Given the description of an element on the screen output the (x, y) to click on. 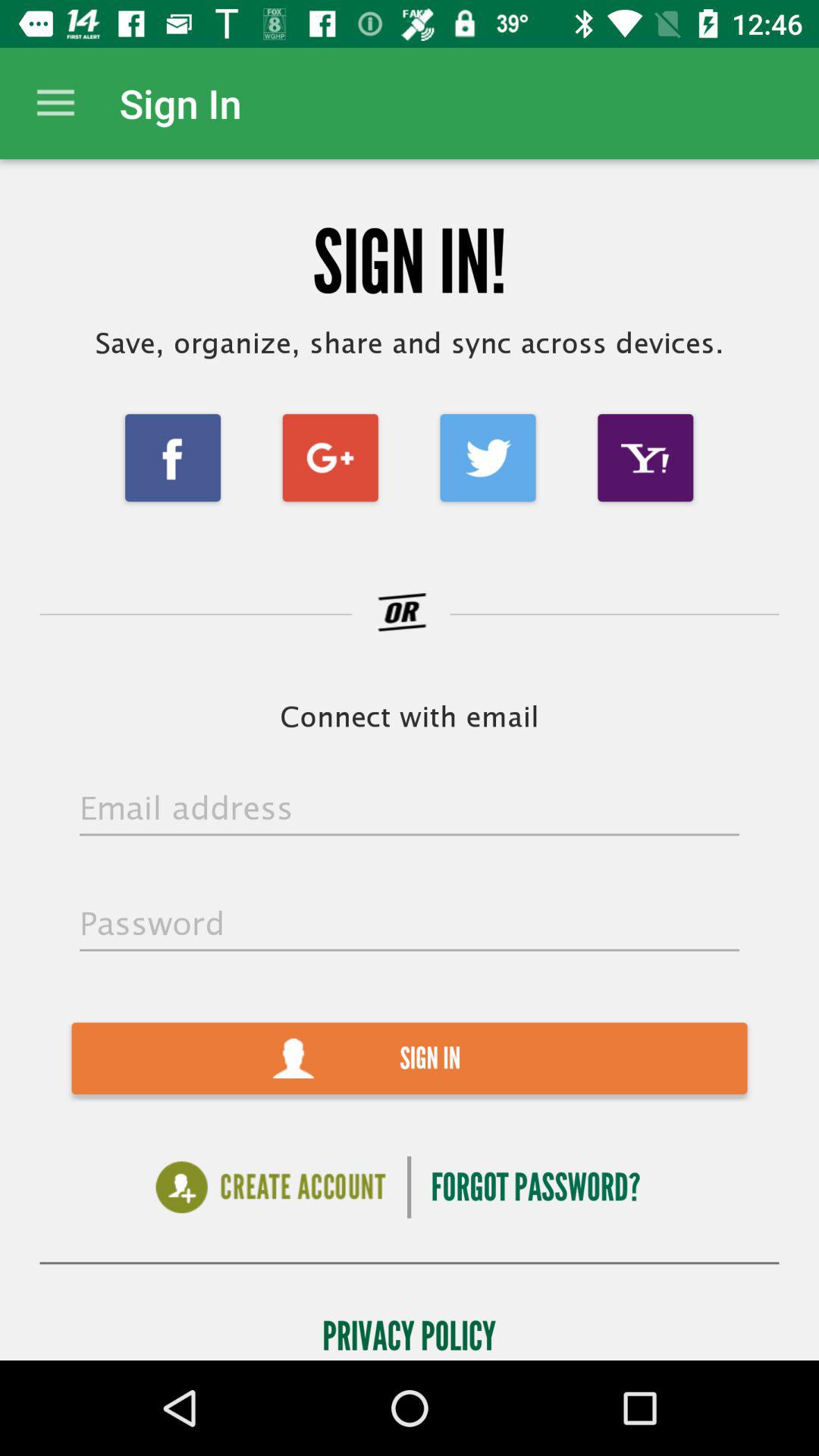
launch the icon at the top right corner (645, 457)
